Given the description of an element on the screen output the (x, y) to click on. 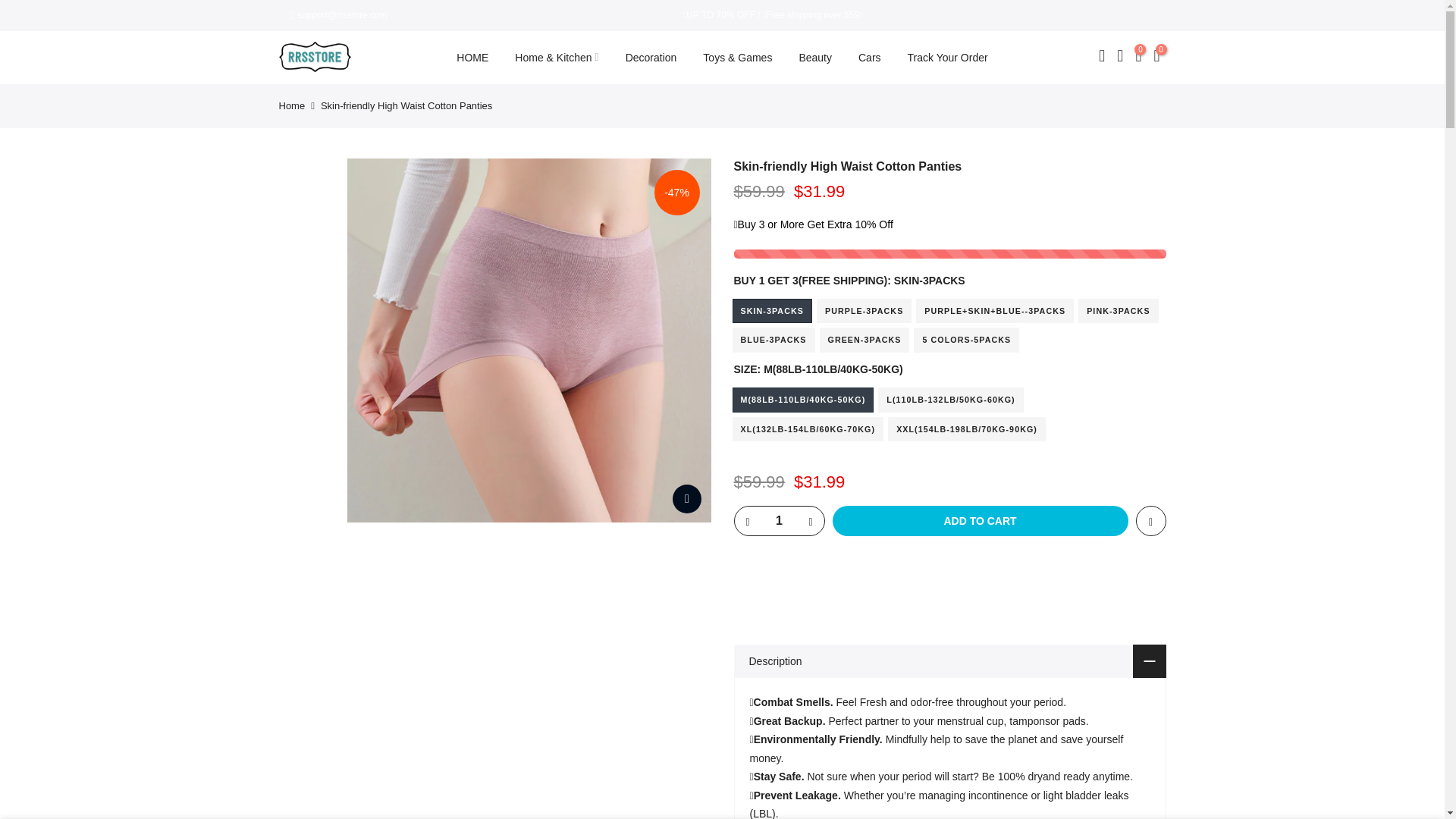
1 (778, 520)
HOME (473, 57)
Description (949, 661)
ADD TO CART (980, 521)
Beauty (815, 57)
0 (1138, 57)
Home (292, 105)
Cars (868, 57)
Track Your Order (947, 57)
Decoration (650, 57)
